Given the description of an element on the screen output the (x, y) to click on. 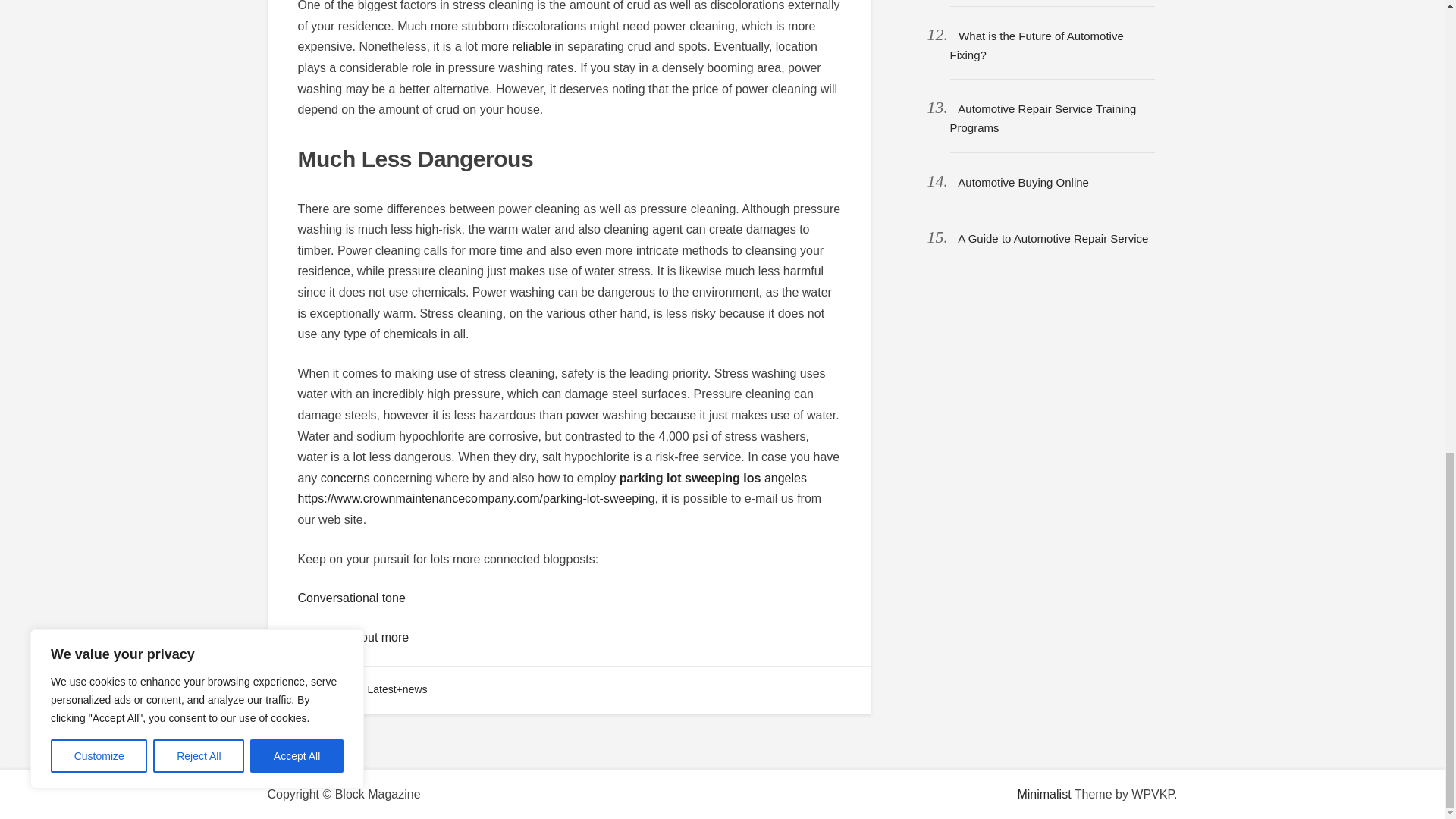
concerns (344, 477)
Conversational tone (350, 597)
General (324, 689)
reliable (531, 46)
click to find out more (353, 636)
